Given the description of an element on the screen output the (x, y) to click on. 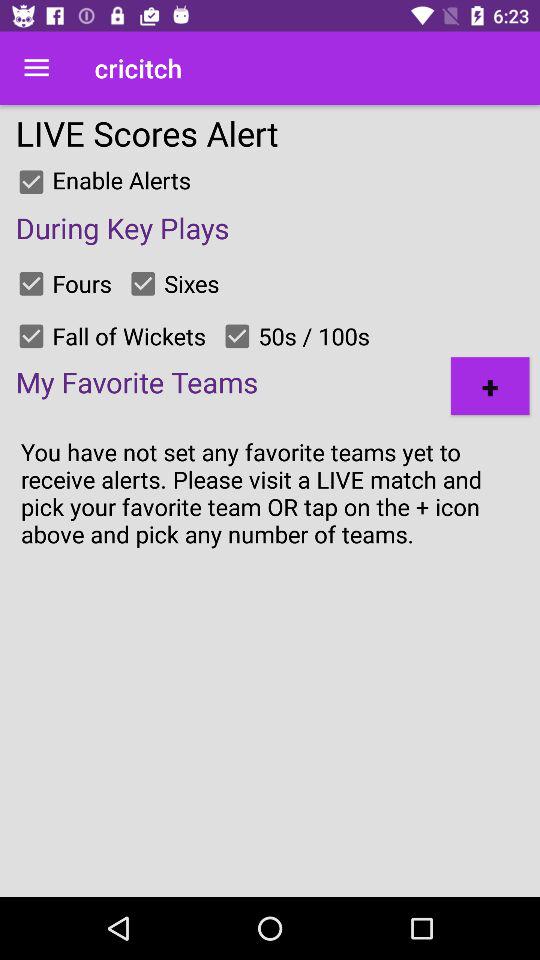
launch item above live scores alert item (36, 68)
